Given the description of an element on the screen output the (x, y) to click on. 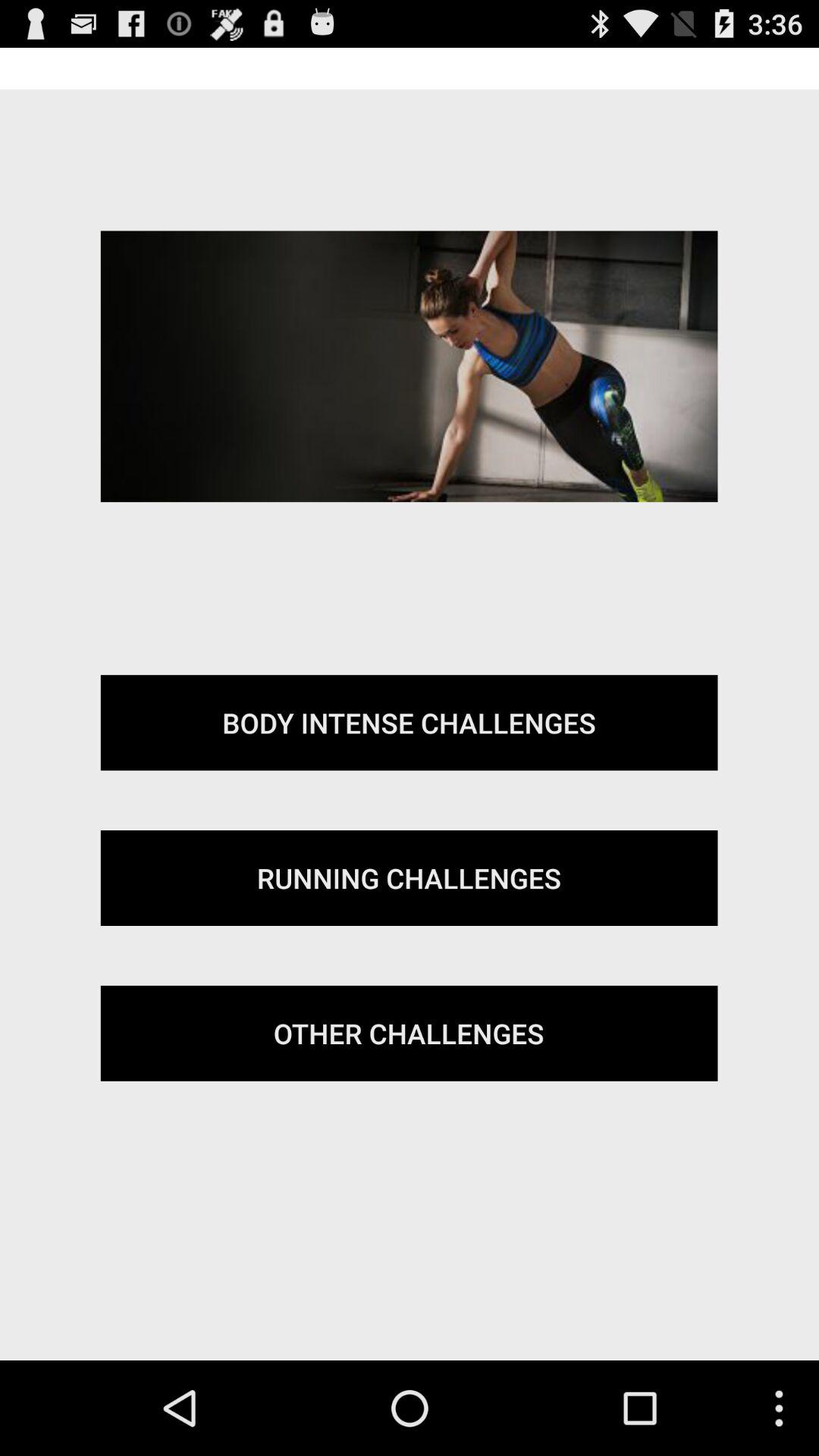
launch the button below body intense challenges button (408, 877)
